Given the description of an element on the screen output the (x, y) to click on. 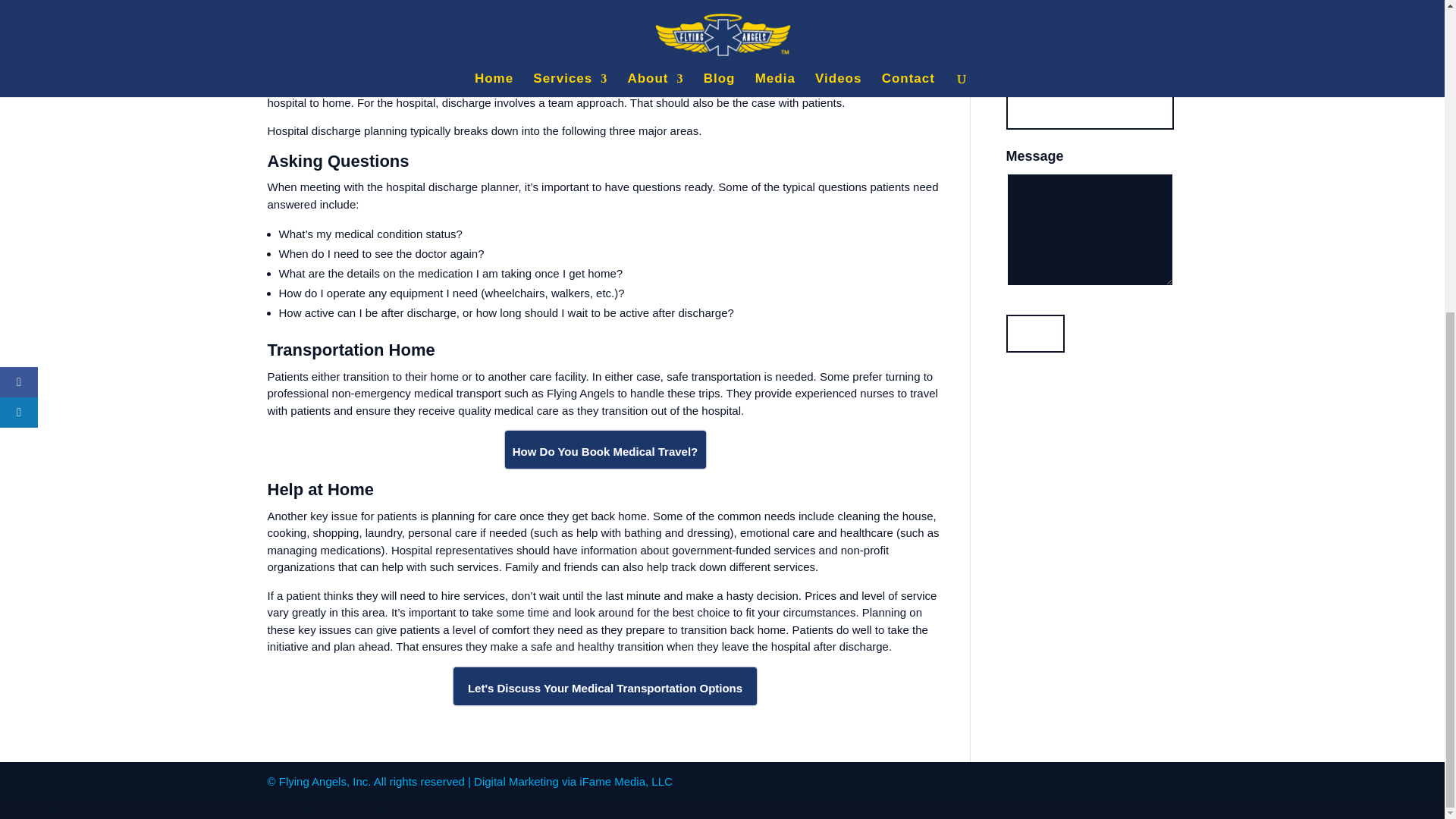
Ask questions, get estimates, make a plan for the future! (604, 686)
Submit (1035, 333)
